Given the description of an element on the screen output the (x, y) to click on. 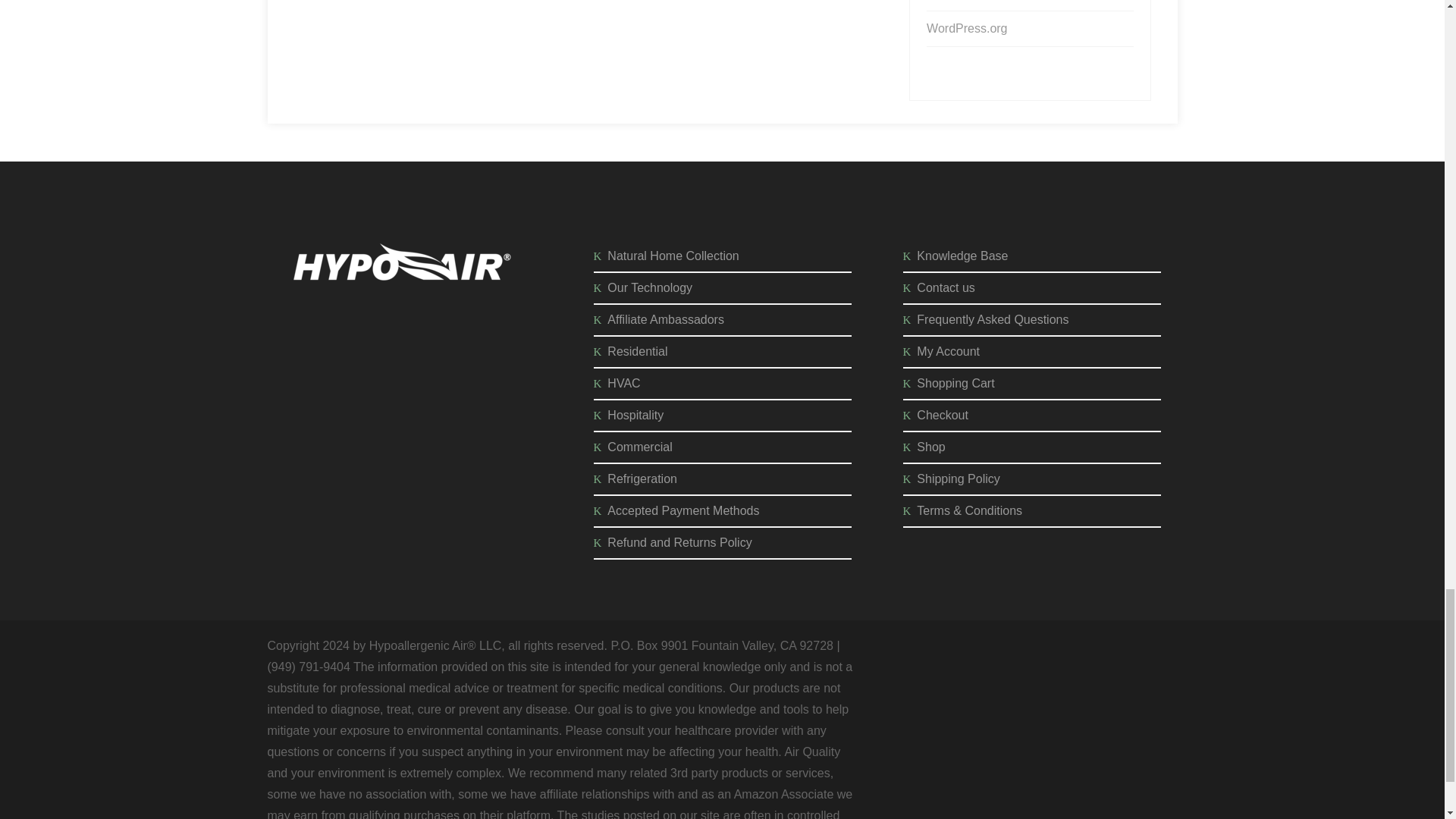
Privacy Policy (327, 351)
